Given the description of an element on the screen output the (x, y) to click on. 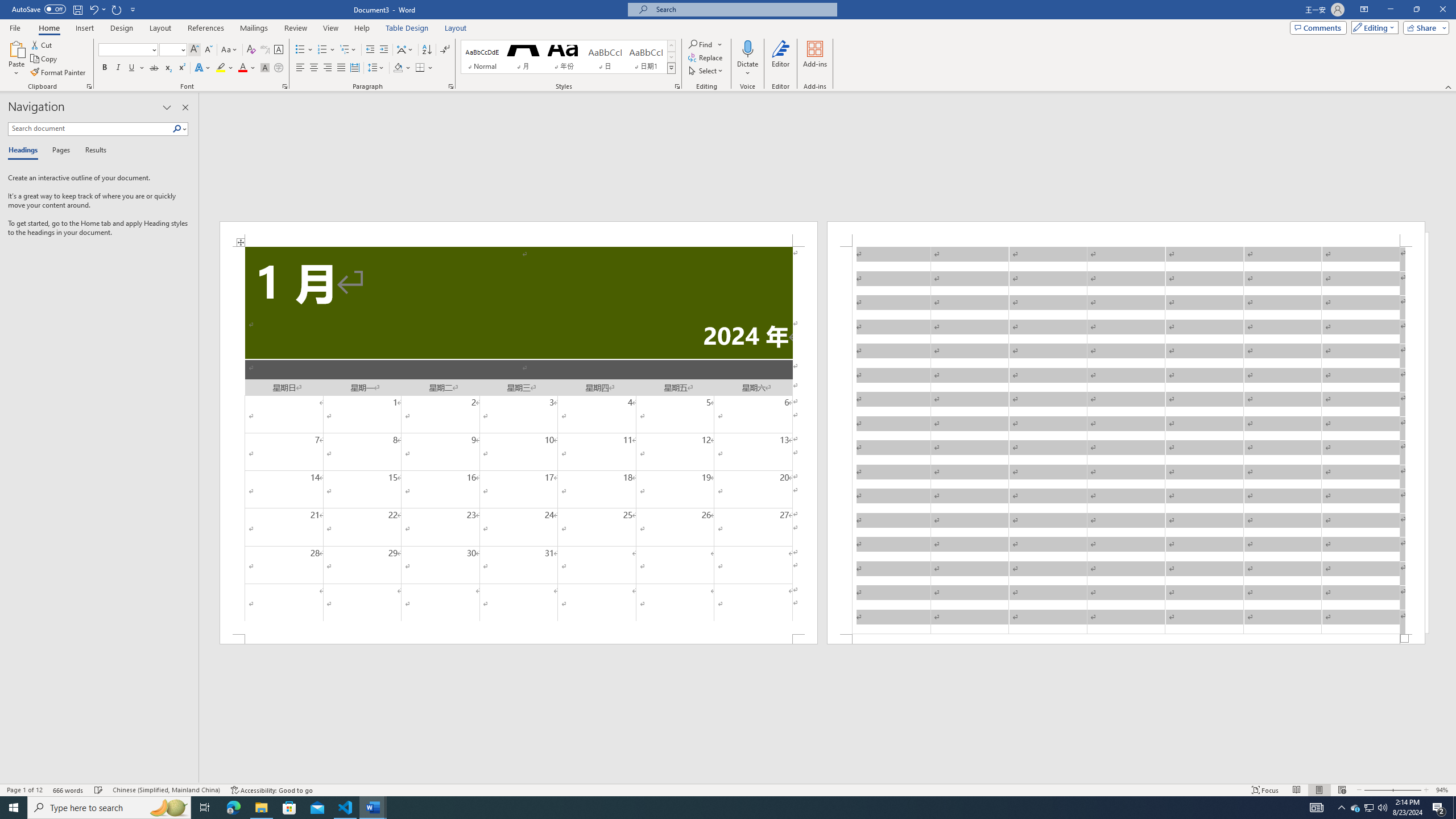
Header -Section 1- (1126, 233)
